Given the description of an element on the screen output the (x, y) to click on. 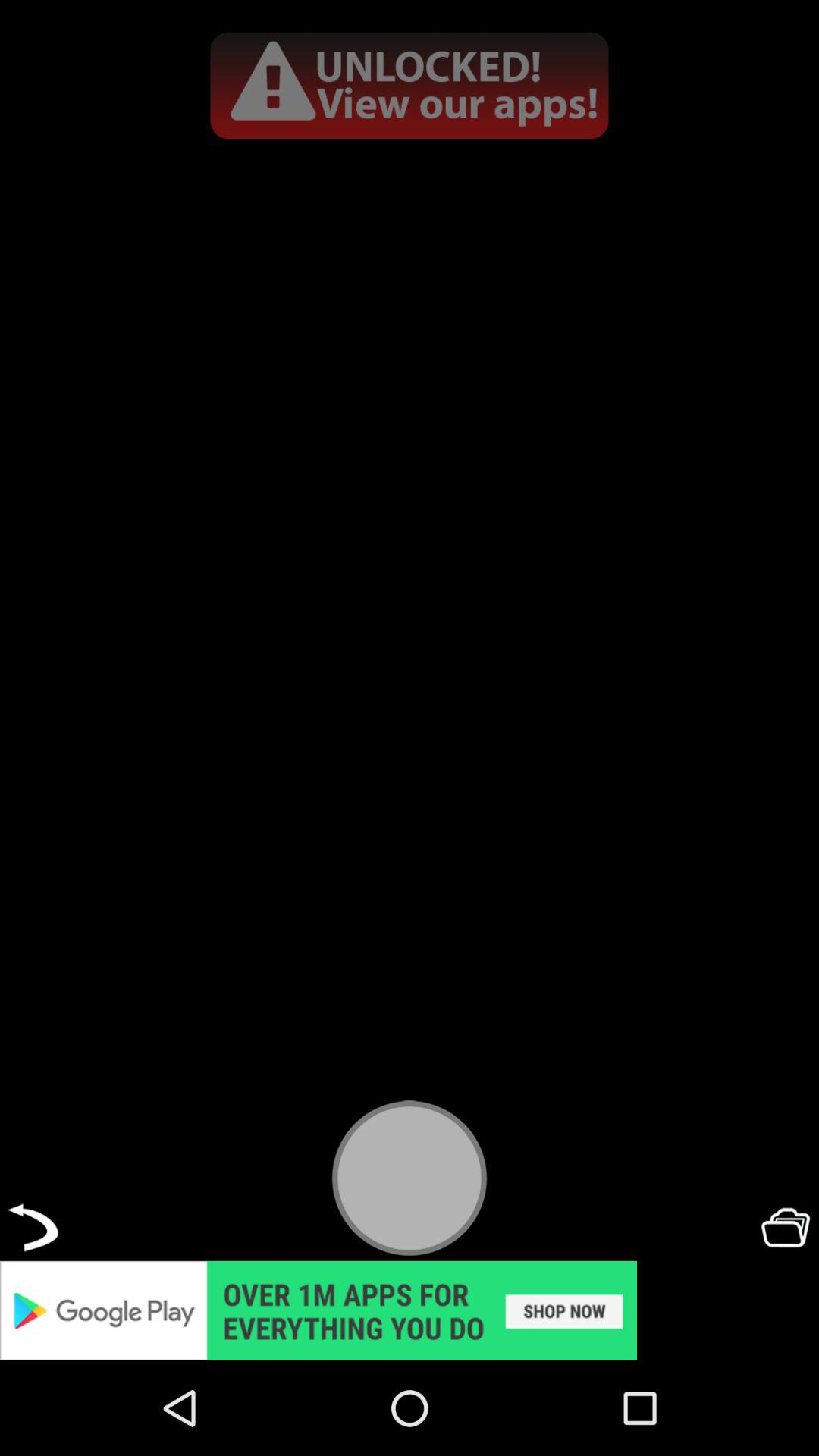
go to back (33, 1227)
